Given the description of an element on the screen output the (x, y) to click on. 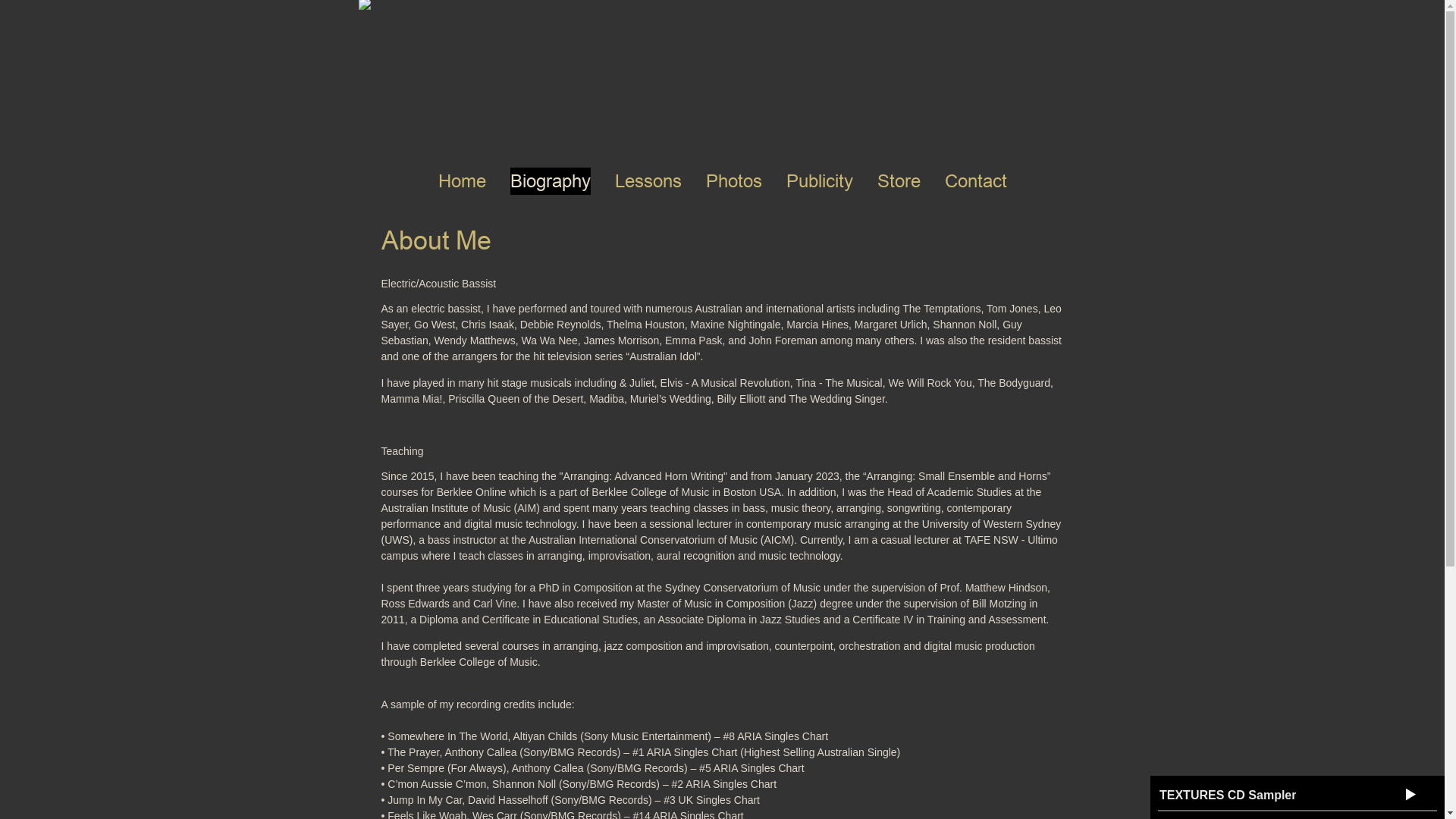
Home Element type: text (462, 180)
Play Element type: hover (1409, 793)
Lessons Element type: text (647, 180)
Contact Element type: text (975, 180)
Publicity Element type: text (818, 180)
Photos Element type: text (733, 180)
Biography Element type: text (549, 180)
Store Element type: text (897, 180)
